Given the description of an element on the screen output the (x, y) to click on. 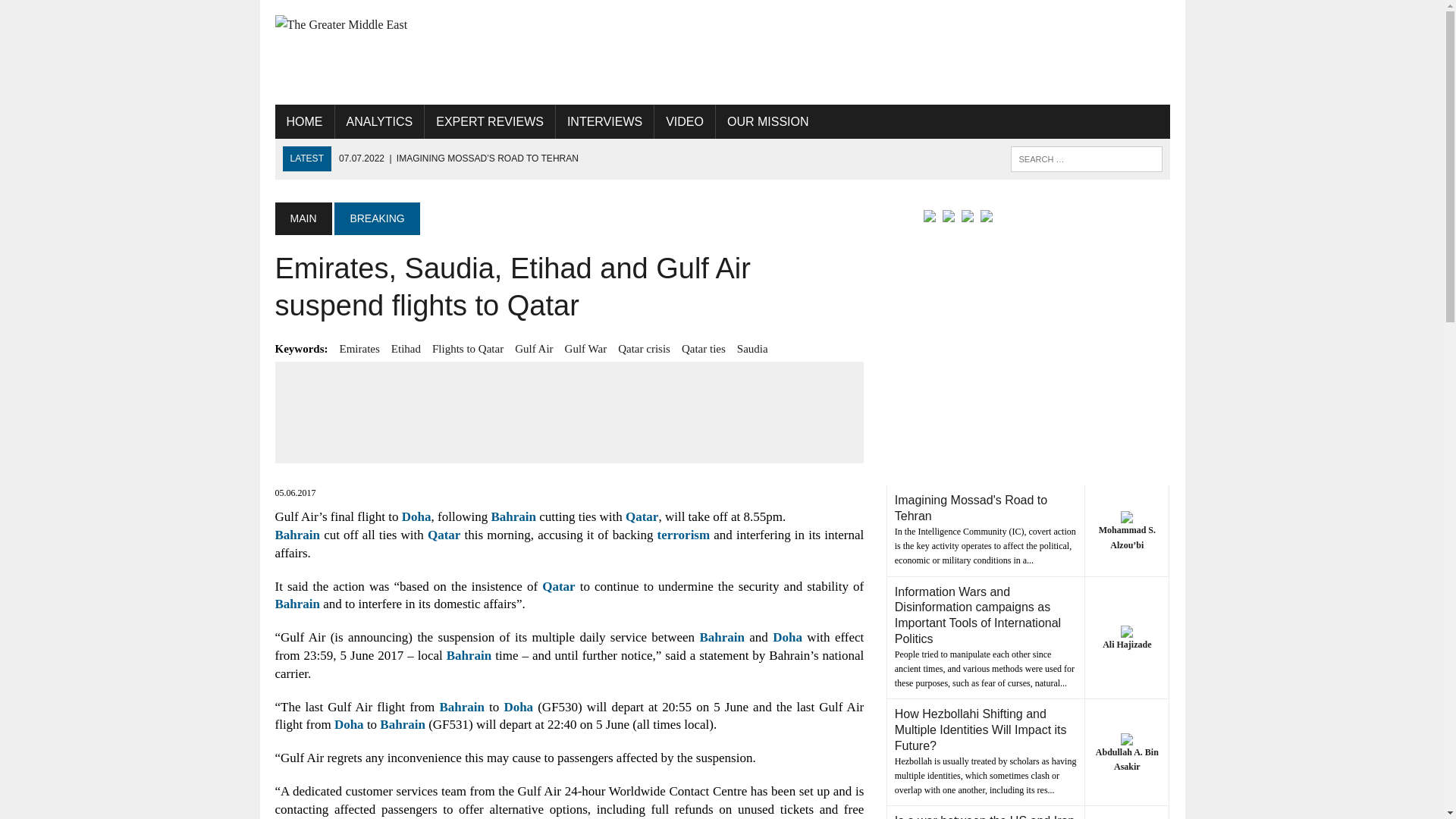
Doha (415, 516)
Qatar (558, 586)
Bahrain (402, 724)
Bahrain (297, 534)
Saudia (752, 348)
Gulf Air (534, 348)
The Greater Middle East (416, 25)
Qatar crisis (643, 348)
BREAKING (376, 218)
Search (75, 14)
